Given the description of an element on the screen output the (x, y) to click on. 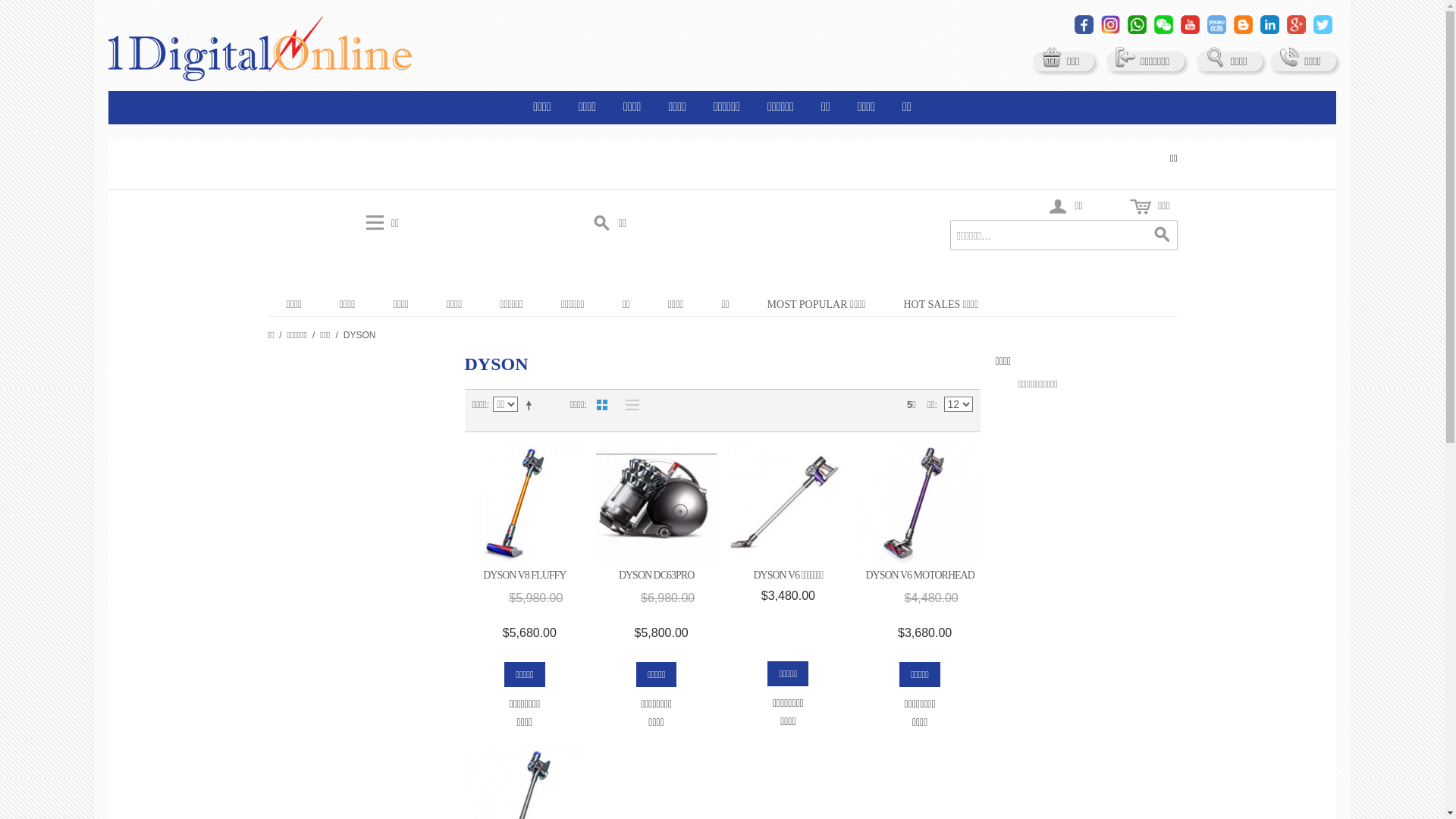
DYSON V6 MOTORHEAD Element type: hover (919, 503)
DYSON DC63PRO Element type: hover (656, 503)
DYSON V8 FLUFFY Element type: text (524, 574)
DYSON DC63PRO Element type: text (655, 574)
DYSON V6 MOTORHEAD Element type: text (919, 574)
DYSON V8 FLUFFY Element type: hover (524, 503)
